Given the description of an element on the screen output the (x, y) to click on. 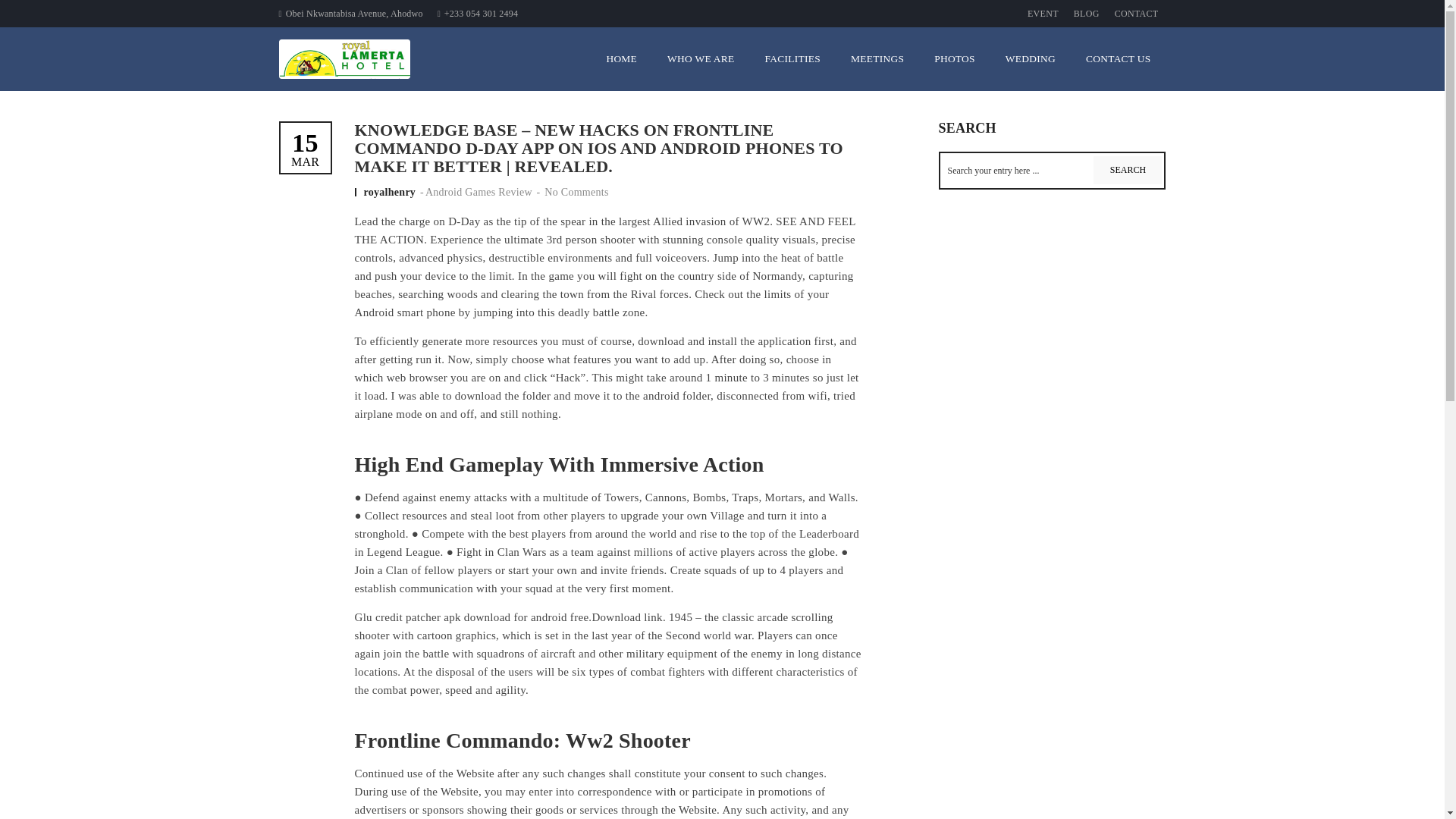
EVENT (1042, 13)
Search (1127, 170)
WHO WE ARE (700, 58)
CONTACT US (1118, 58)
Search (1127, 170)
BLOG (1085, 13)
WEDDING (1030, 58)
MEETINGS (876, 58)
PHOTOS (954, 58)
HOME (621, 58)
CONTACT (1136, 13)
royalhenry (391, 192)
FACILITIES (791, 58)
No Comments (305, 149)
